Given the description of an element on the screen output the (x, y) to click on. 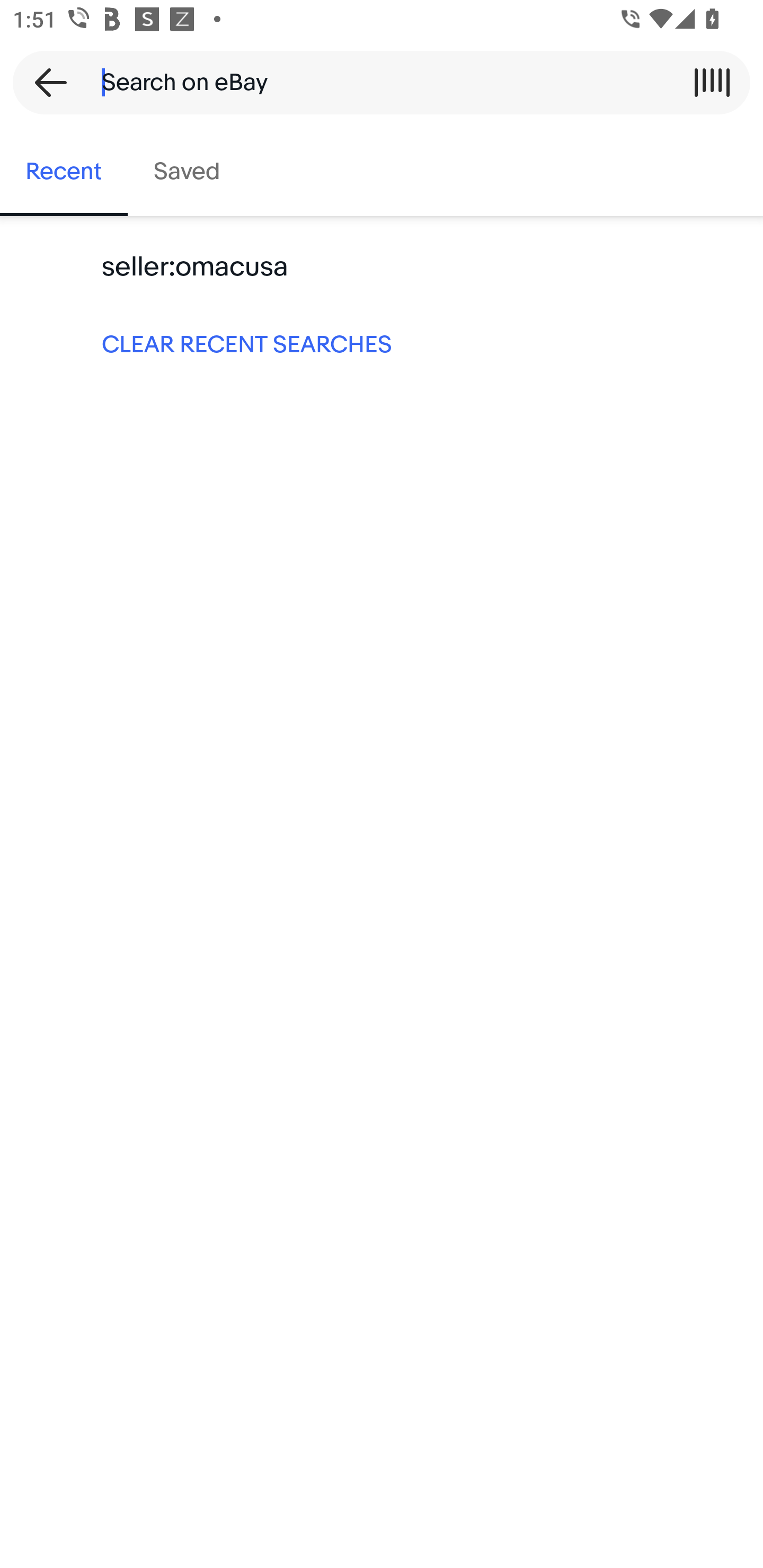
Back (44, 82)
Scan a barcode (711, 82)
Search on eBay (375, 82)
Saved, tab 2 of 2 Saved (186, 171)
seller:omacusa Keyword search seller:omacusa: (381, 266)
CLEAR RECENT SEARCHES (381, 343)
